Given the description of an element on the screen output the (x, y) to click on. 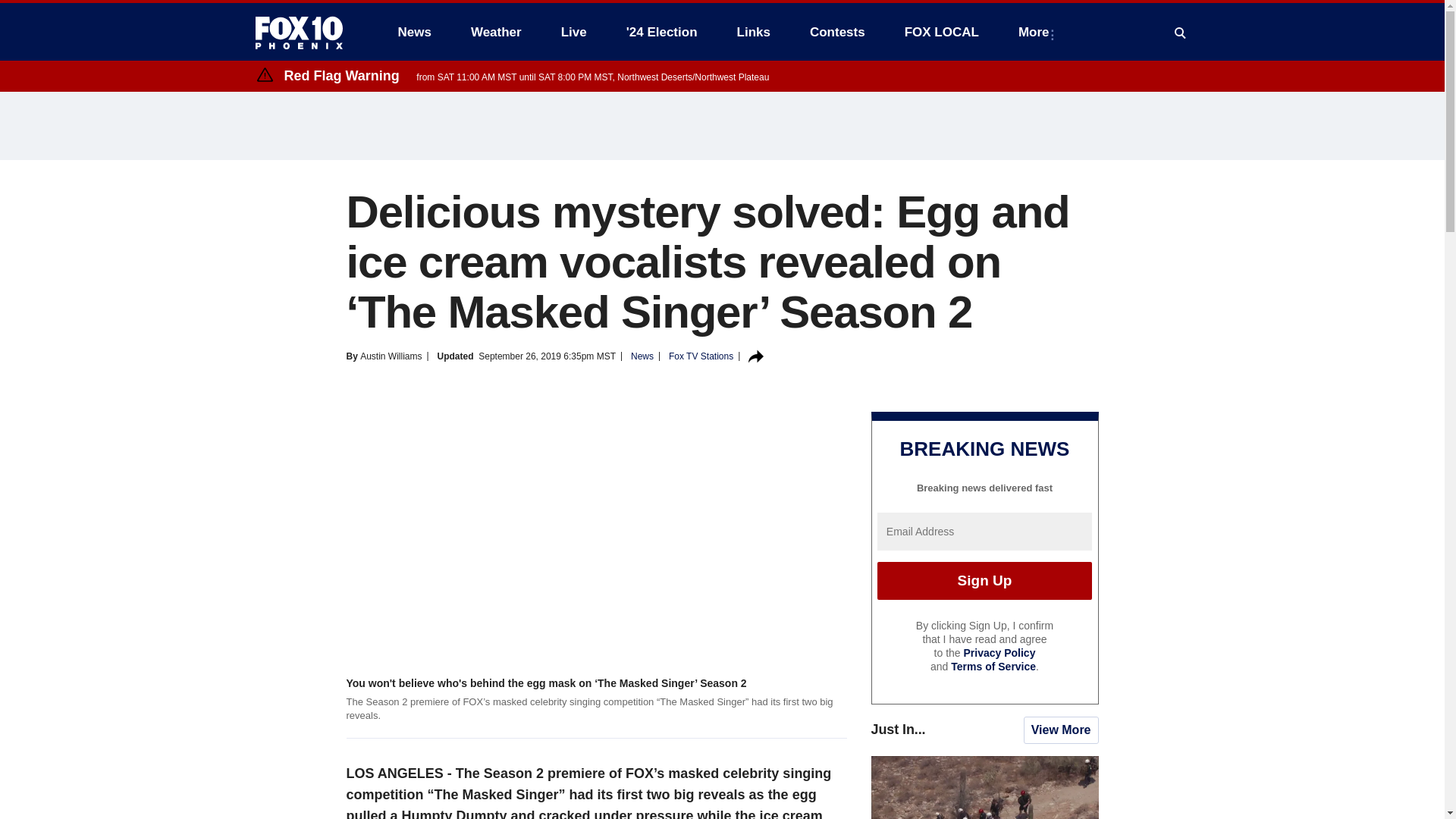
News (413, 32)
Links (754, 32)
'24 Election (662, 32)
Weather (496, 32)
Live (573, 32)
FOX LOCAL (941, 32)
Sign Up (984, 580)
More (1036, 32)
Contests (837, 32)
